Given the description of an element on the screen output the (x, y) to click on. 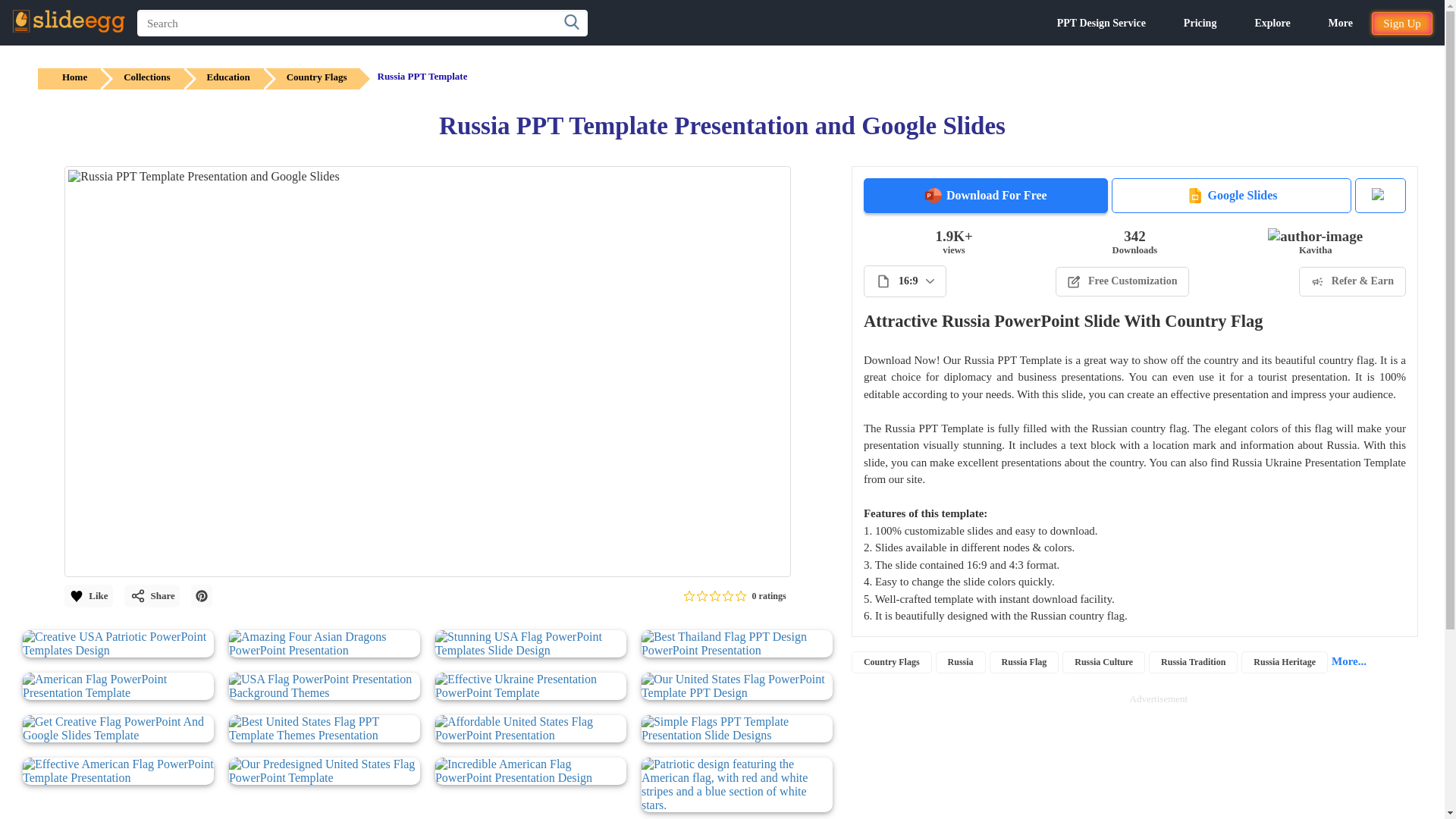
Pricing (1200, 22)
PPT Design Service (1101, 22)
Explore (1271, 22)
SlideEgg (68, 21)
